Given the description of an element on the screen output the (x, y) to click on. 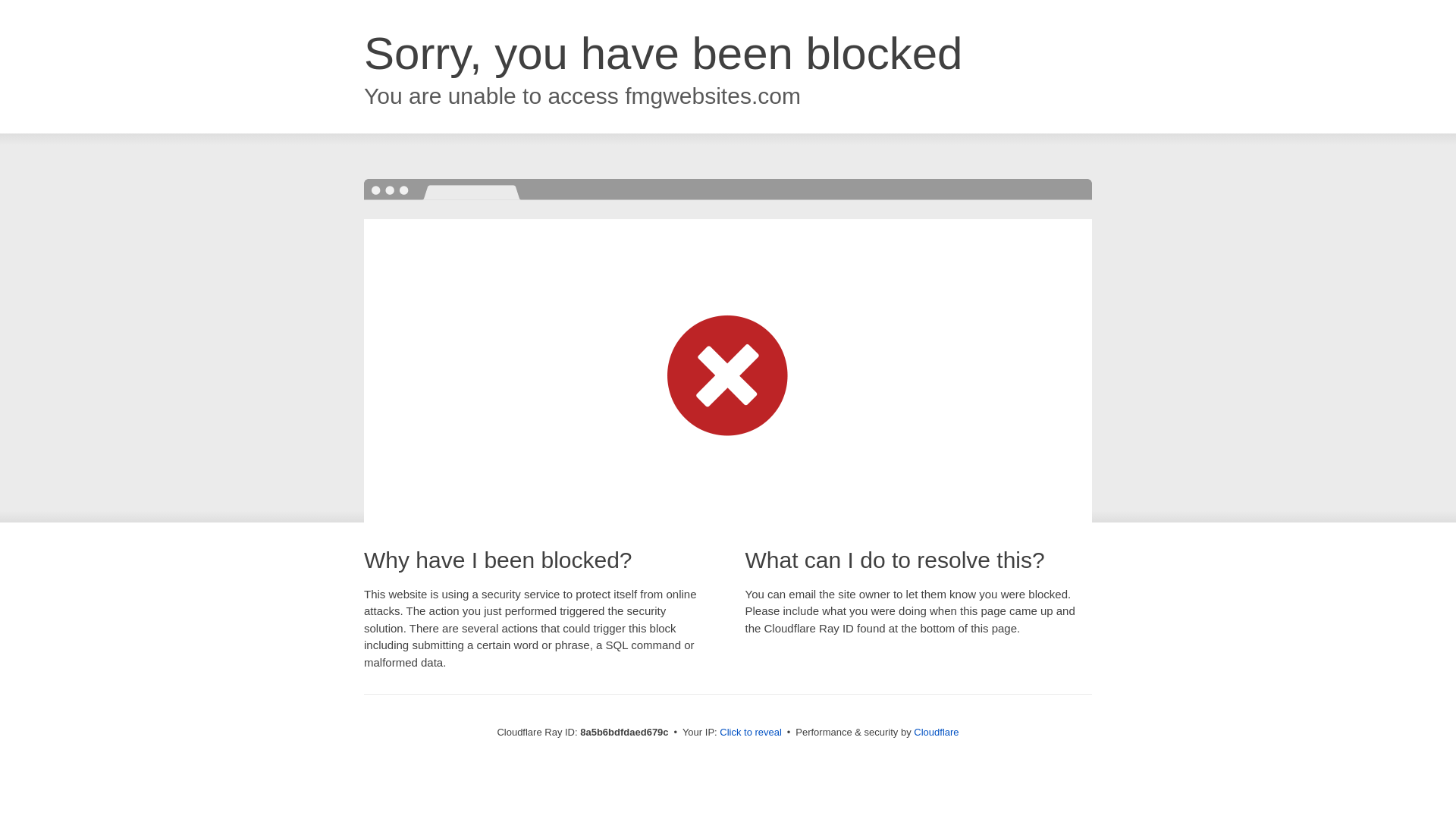
Cloudflare (936, 731)
Click to reveal (750, 732)
